Given the description of an element on the screen output the (x, y) to click on. 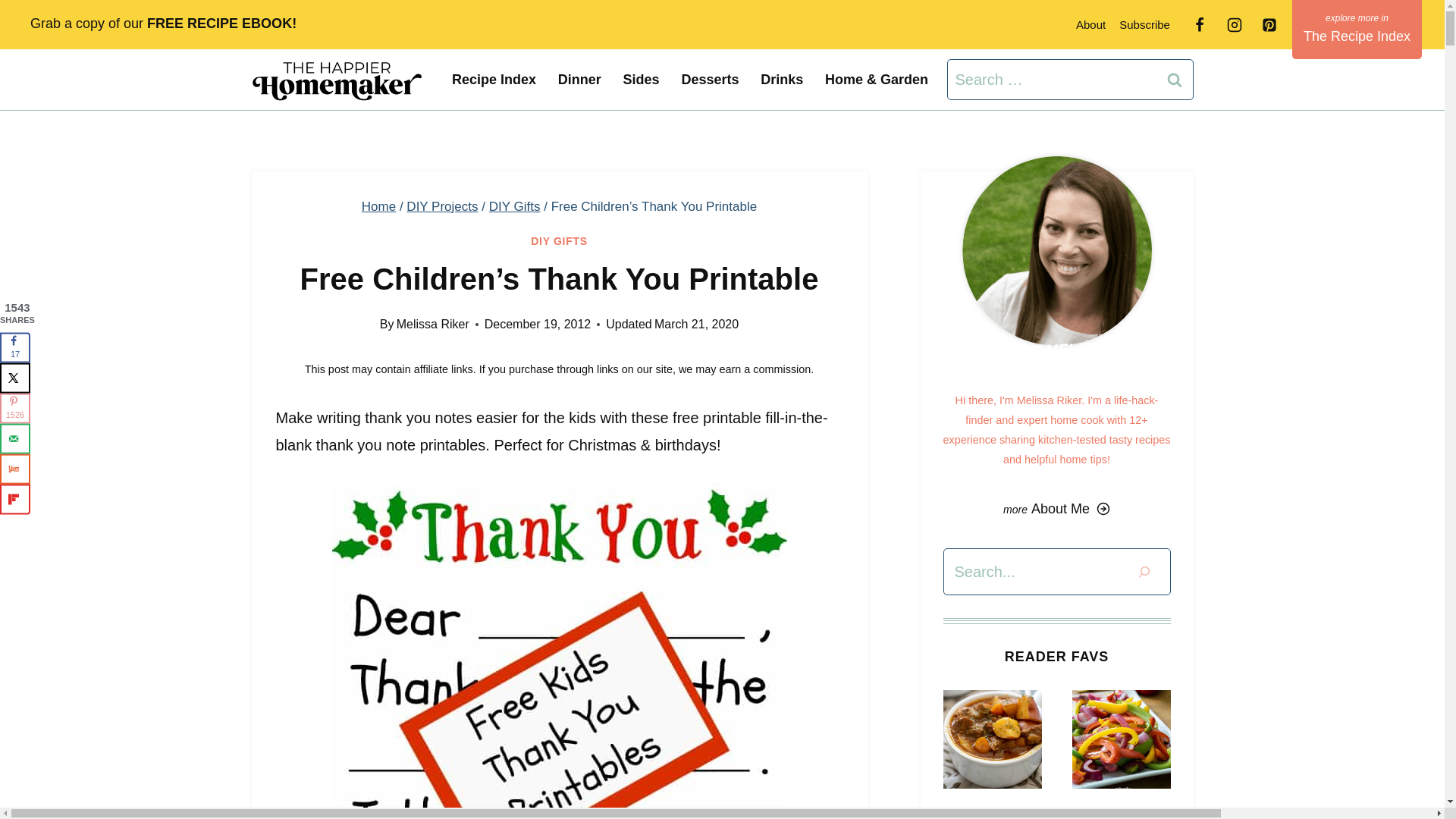
Send over email (15, 439)
Home (378, 206)
Desserts (709, 78)
Save to Pinterest (15, 408)
Recipe Index (494, 78)
DIY Projects (441, 206)
Search (1174, 78)
FREE RECIPE EBOOK (219, 23)
Melissa Riker (432, 323)
The Recipe Index (1357, 29)
Subscribe (1144, 24)
Dinner (579, 78)
Drinks (781, 78)
DIY Gifts (514, 206)
Sides (640, 78)
